Given the description of an element on the screen output the (x, y) to click on. 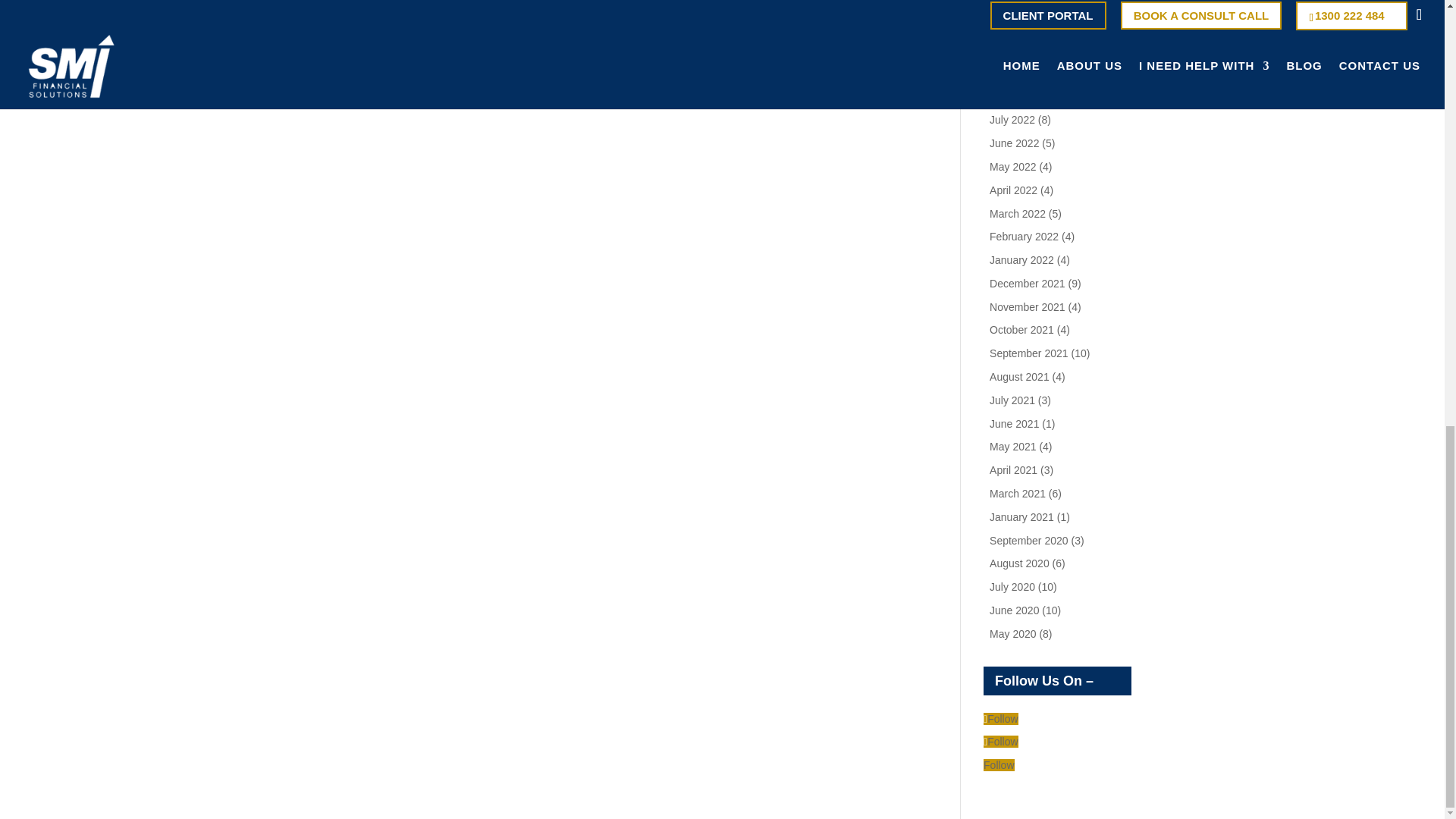
November 2022 (1027, 26)
October 2022 (1022, 50)
Follow on Facebook (1000, 741)
Follow on Instagram (1000, 718)
September 2022 (1029, 73)
Follow on LinkedIn (998, 765)
August 2022 (1019, 96)
December 2022 (1027, 4)
